Given the description of an element on the screen output the (x, y) to click on. 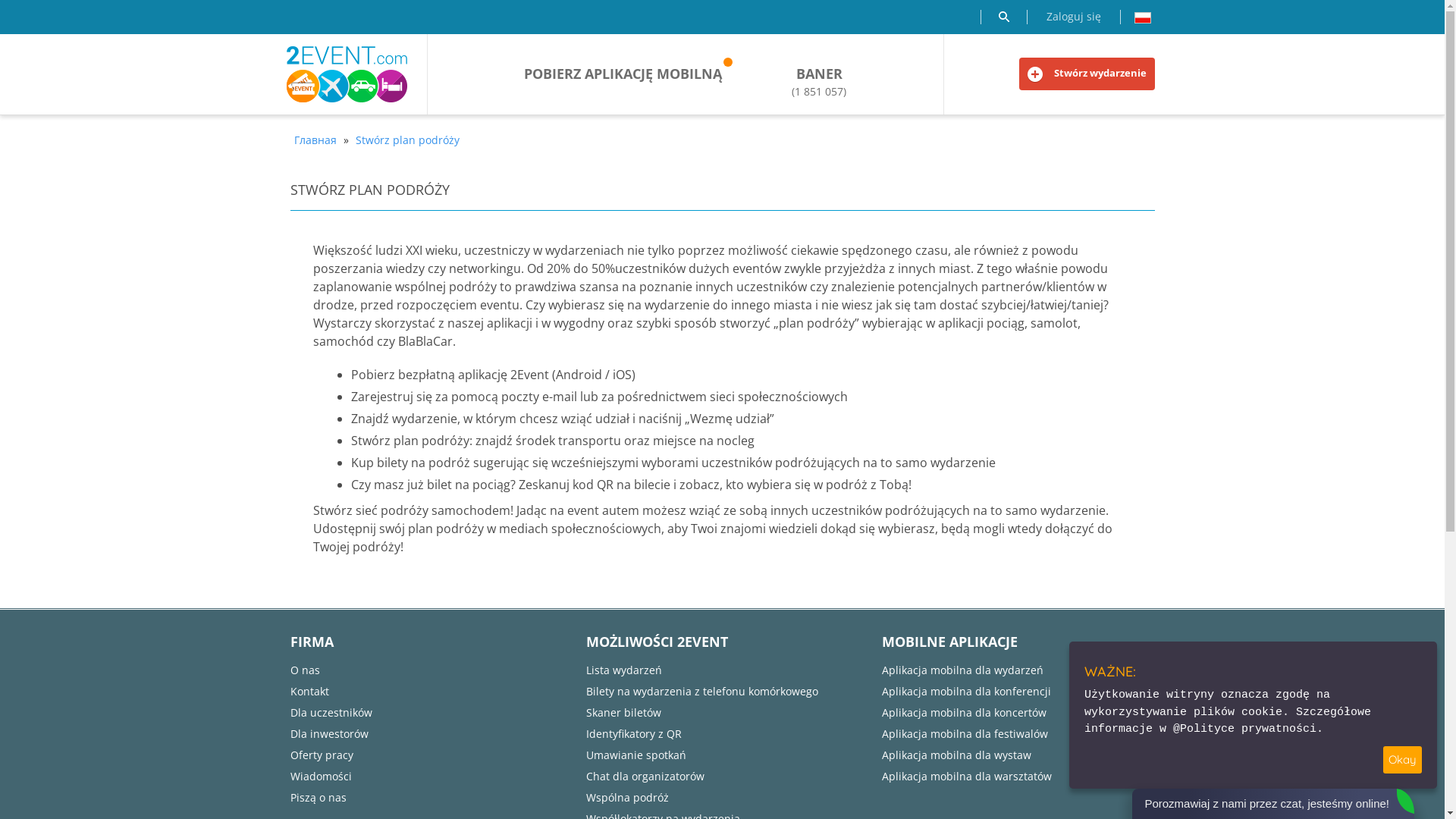
Okay Element type: text (1402, 760)
o nas Element type: text (304, 669)
BANER
(1 851 057) Element type: text (818, 81)
Aplikacja mobilna dla konferencji Element type: text (965, 691)
FIRMA Element type: text (310, 641)
Identyfikatory z QR Element type: text (632, 733)
Kontakt Element type: text (308, 691)
Aplikacja mobilna dla wystaw Element type: text (955, 754)
 Szukaj Element type: hover (1003, 16)
Oferty pracy Element type: text (320, 754)
MOBILNE APLIKACJE Element type: text (948, 641)
